Given the description of an element on the screen output the (x, y) to click on. 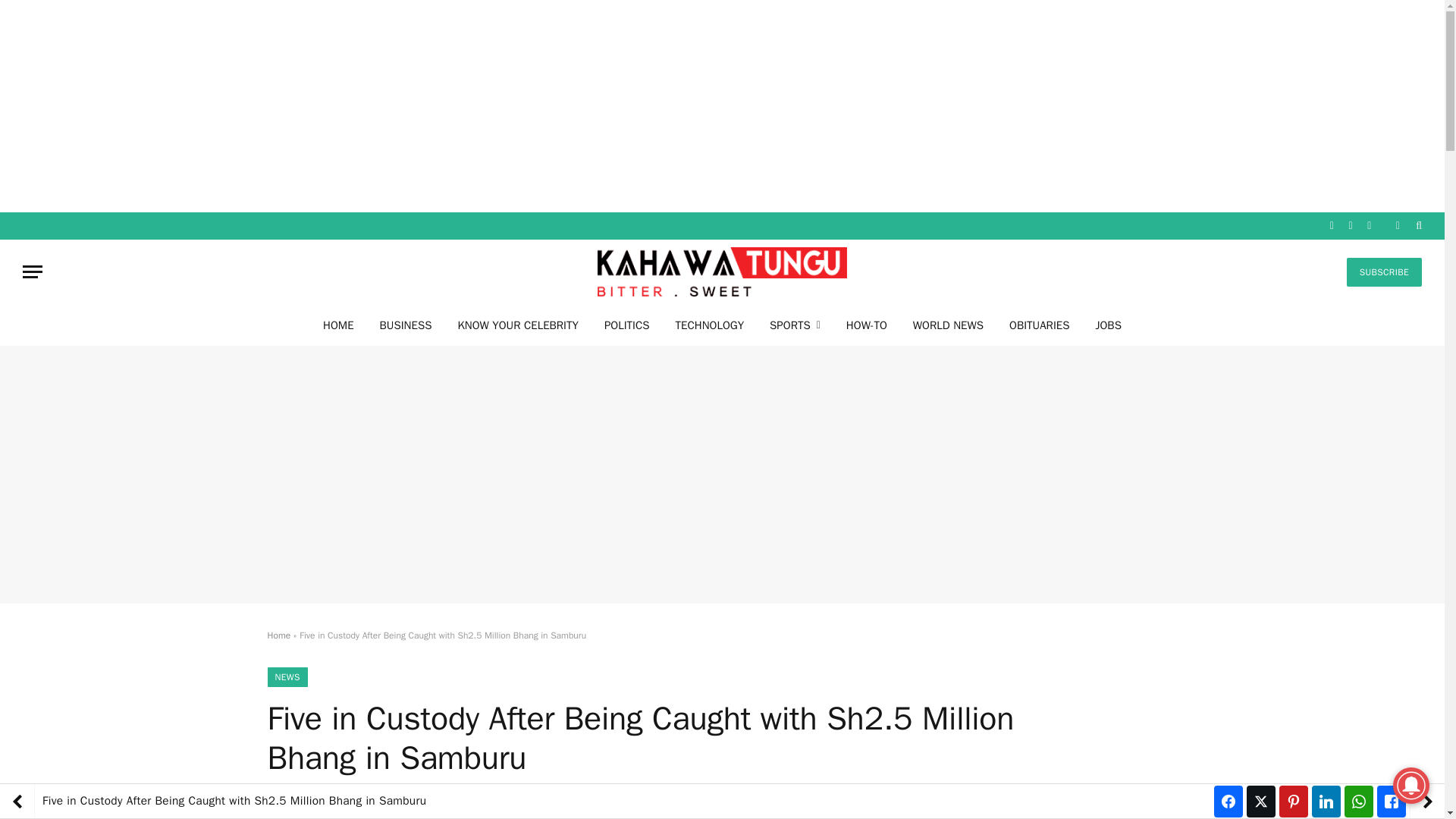
HOW-TO (865, 324)
Home (277, 635)
SUBSCRIBE (1384, 271)
KahawaTungu (721, 271)
BUSINESS (405, 324)
Posts by Eva Nyambura (347, 802)
WORLD NEWS (947, 324)
HOME (338, 324)
SPORTS (794, 324)
